Given the description of an element on the screen output the (x, y) to click on. 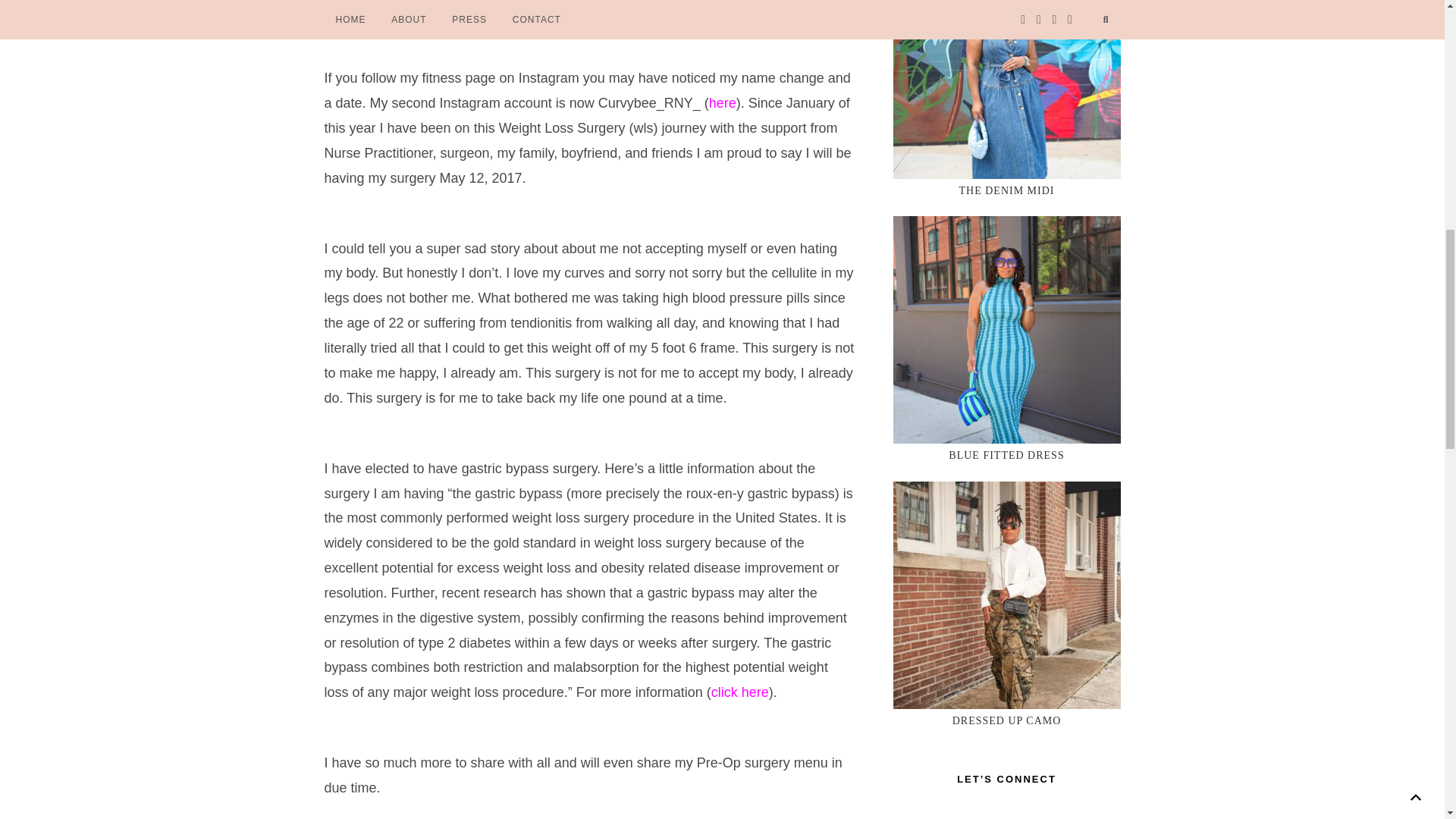
THE DENIM MIDI (1006, 190)
click here (739, 692)
BLUE FITTED DRESS (1006, 455)
DRESSED UP CAMO (1006, 720)
here (722, 102)
